Given the description of an element on the screen output the (x, y) to click on. 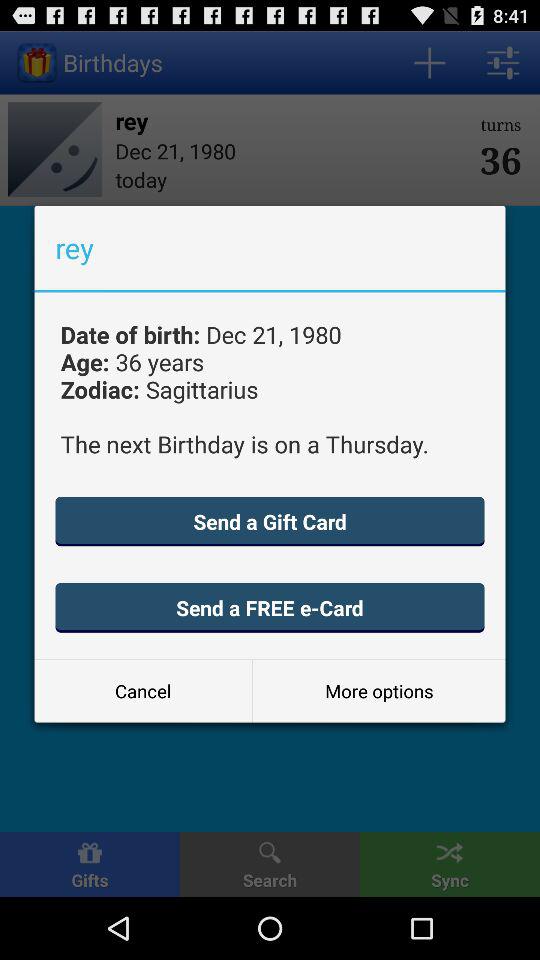
choose item at the bottom right corner (378, 690)
